Given the description of an element on the screen output the (x, y) to click on. 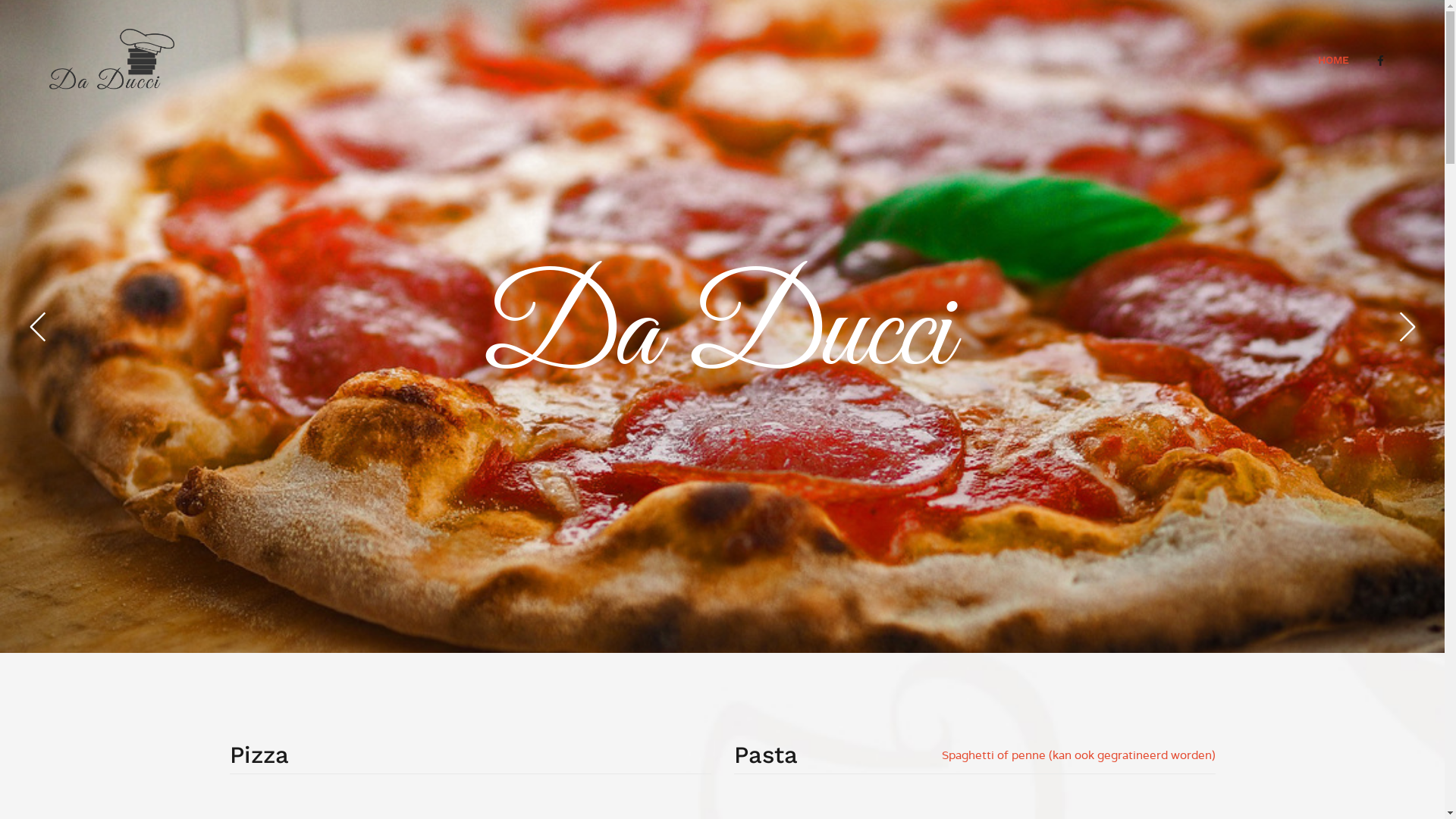
HOME Element type: text (1333, 59)
